Given the description of an element on the screen output the (x, y) to click on. 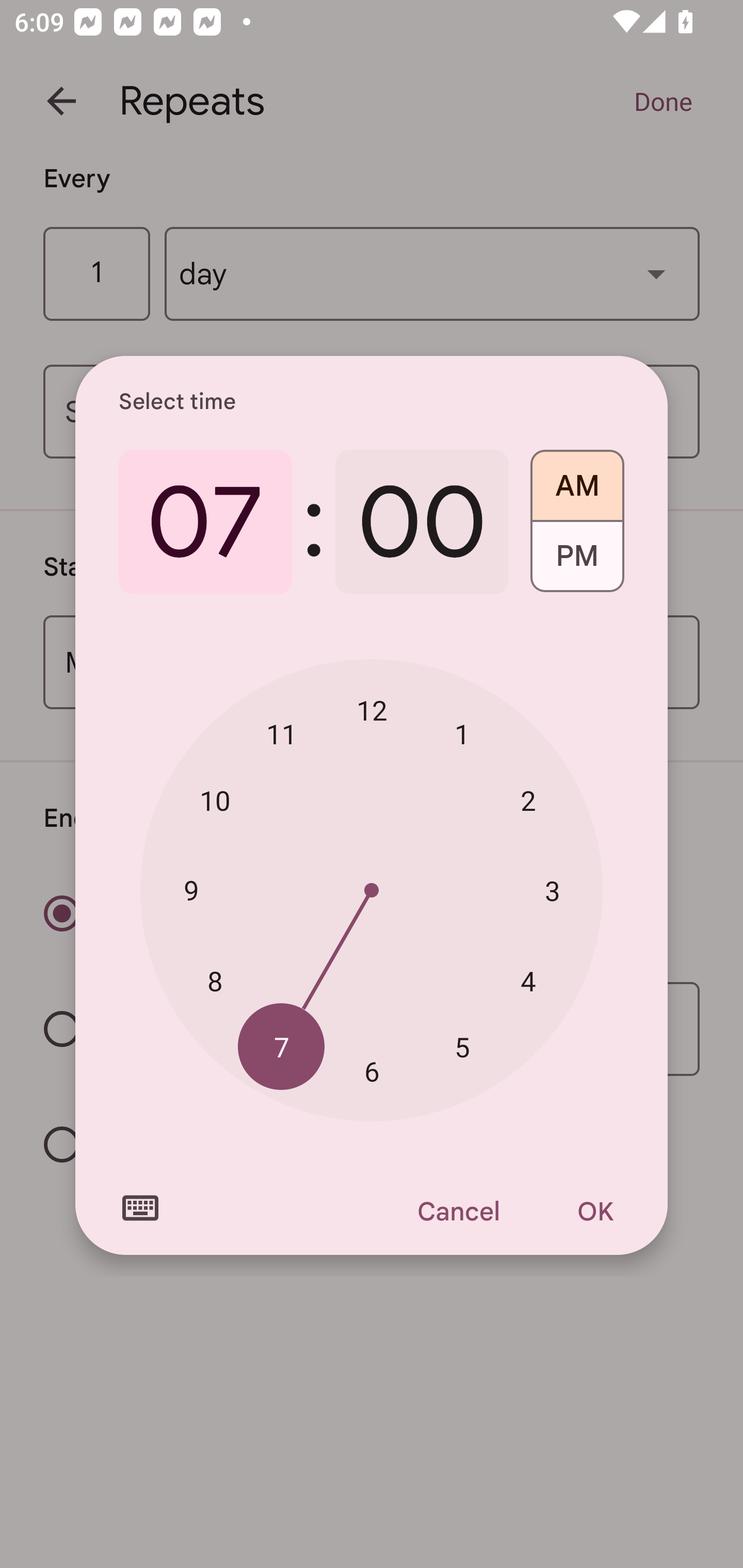
AM (577, 478)
07 7 o'clock (204, 522)
00 0 minutes (421, 522)
PM (577, 563)
12 12 o'clock (371, 710)
11 11 o'clock (281, 733)
1 1 o'clock (462, 733)
10 10 o'clock (214, 800)
2 2 o'clock (528, 800)
9 9 o'clock (190, 889)
3 3 o'clock (551, 890)
8 8 o'clock (214, 980)
4 4 o'clock (528, 980)
7 7 o'clock (281, 1046)
5 5 o'clock (462, 1046)
6 6 o'clock (371, 1071)
Switch to text input mode for the time input. (140, 1208)
Cancel (458, 1211)
OK (595, 1211)
